Given the description of an element on the screen output the (x, y) to click on. 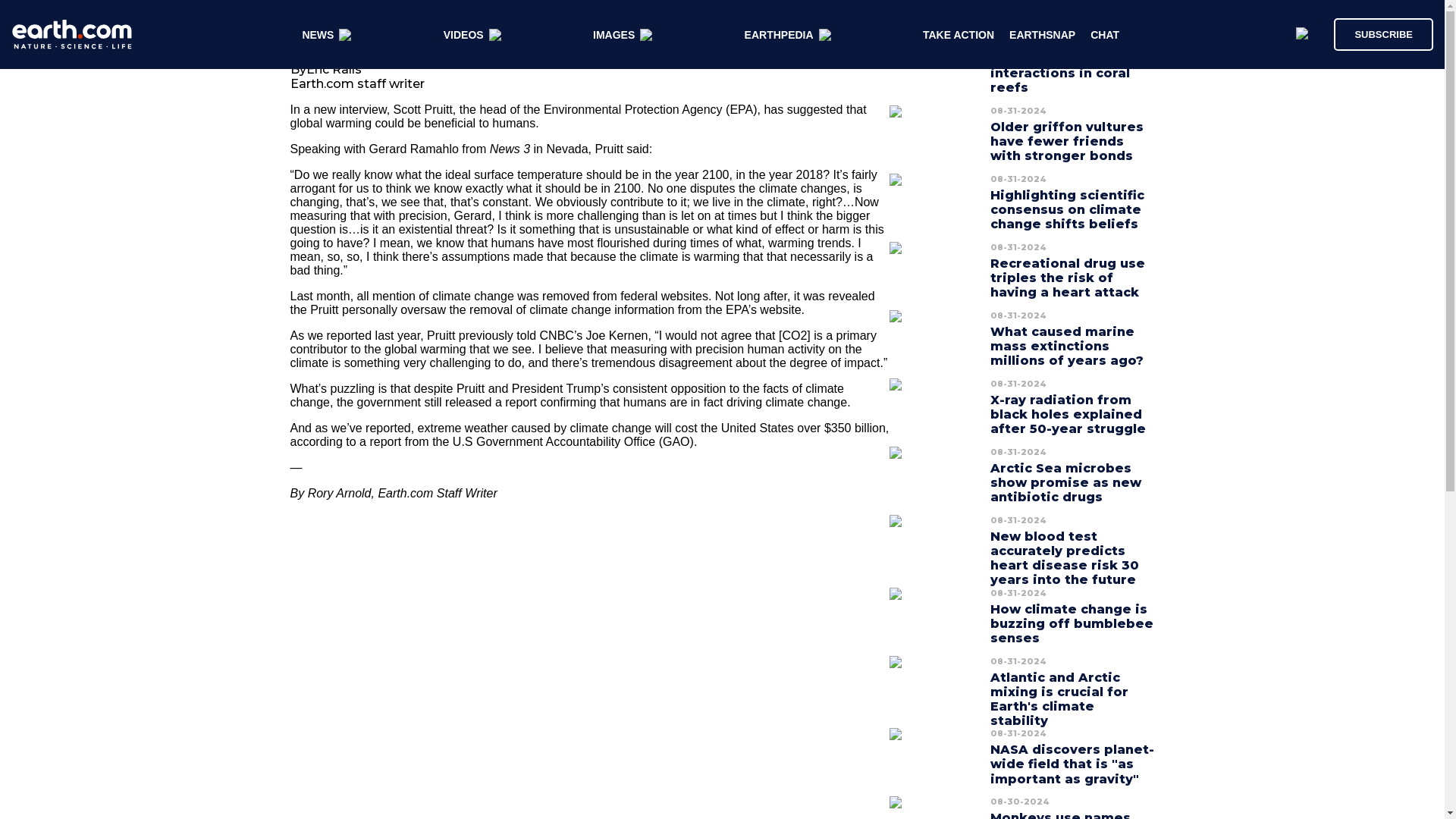
U.S Government Accountability Office (553, 440)
SUBSCRIBE (1382, 34)
SUBSCRIBE (1375, 33)
Arctic Sea microbes show promise as new antibiotic drugs (1065, 482)
Earth.com (404, 492)
TAKE ACTION (958, 34)
CHAT (1104, 34)
Environmental Protection Agency (634, 109)
AI illuminates fish interactions in coral reefs (1059, 73)
